Given the description of an element on the screen output the (x, y) to click on. 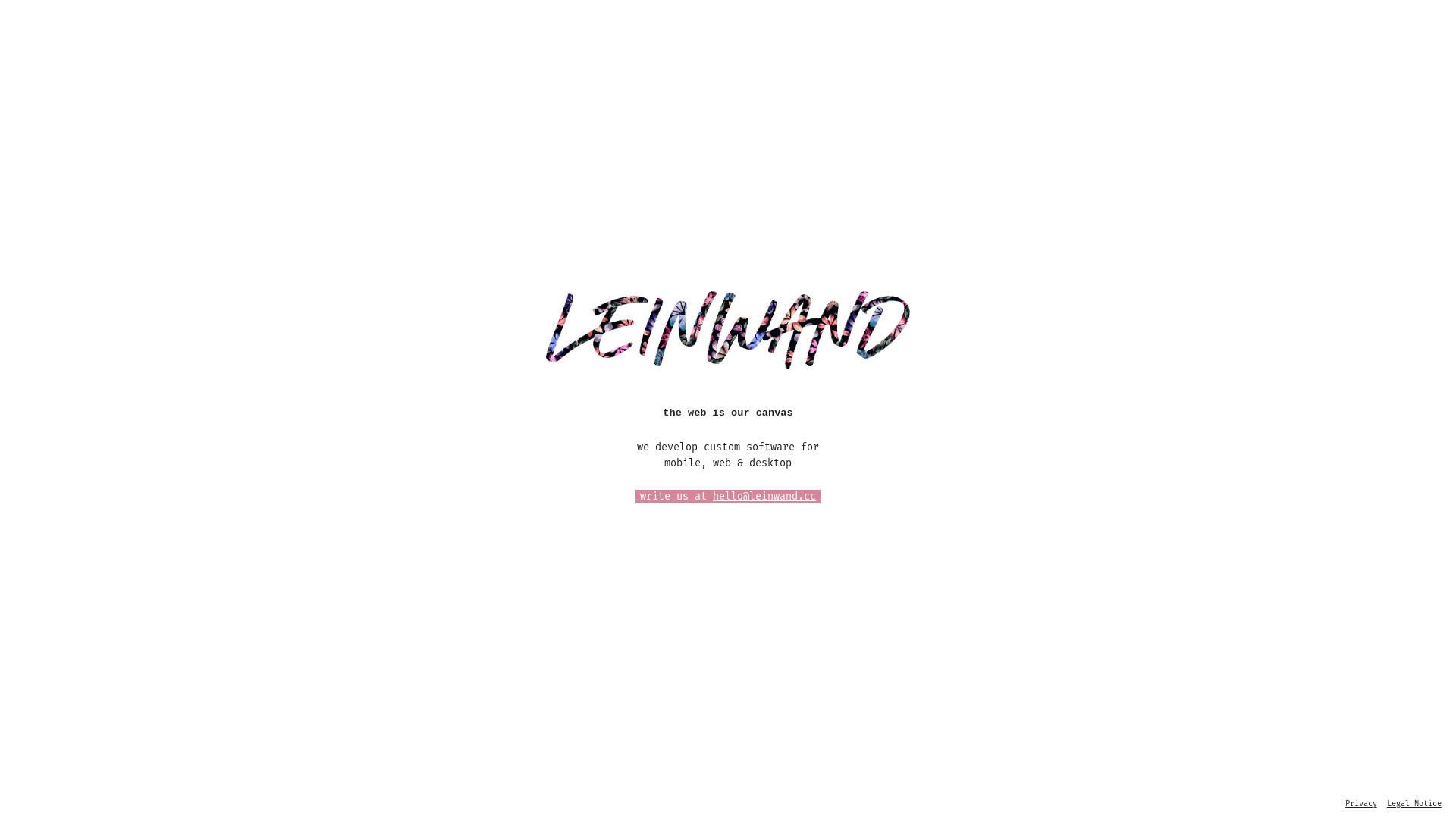
hello@leinwand.cc Element type: text (763, 495)
Legal Notice Element type: text (1413, 803)
Privacy Element type: text (1361, 803)
